Given the description of an element on the screen output the (x, y) to click on. 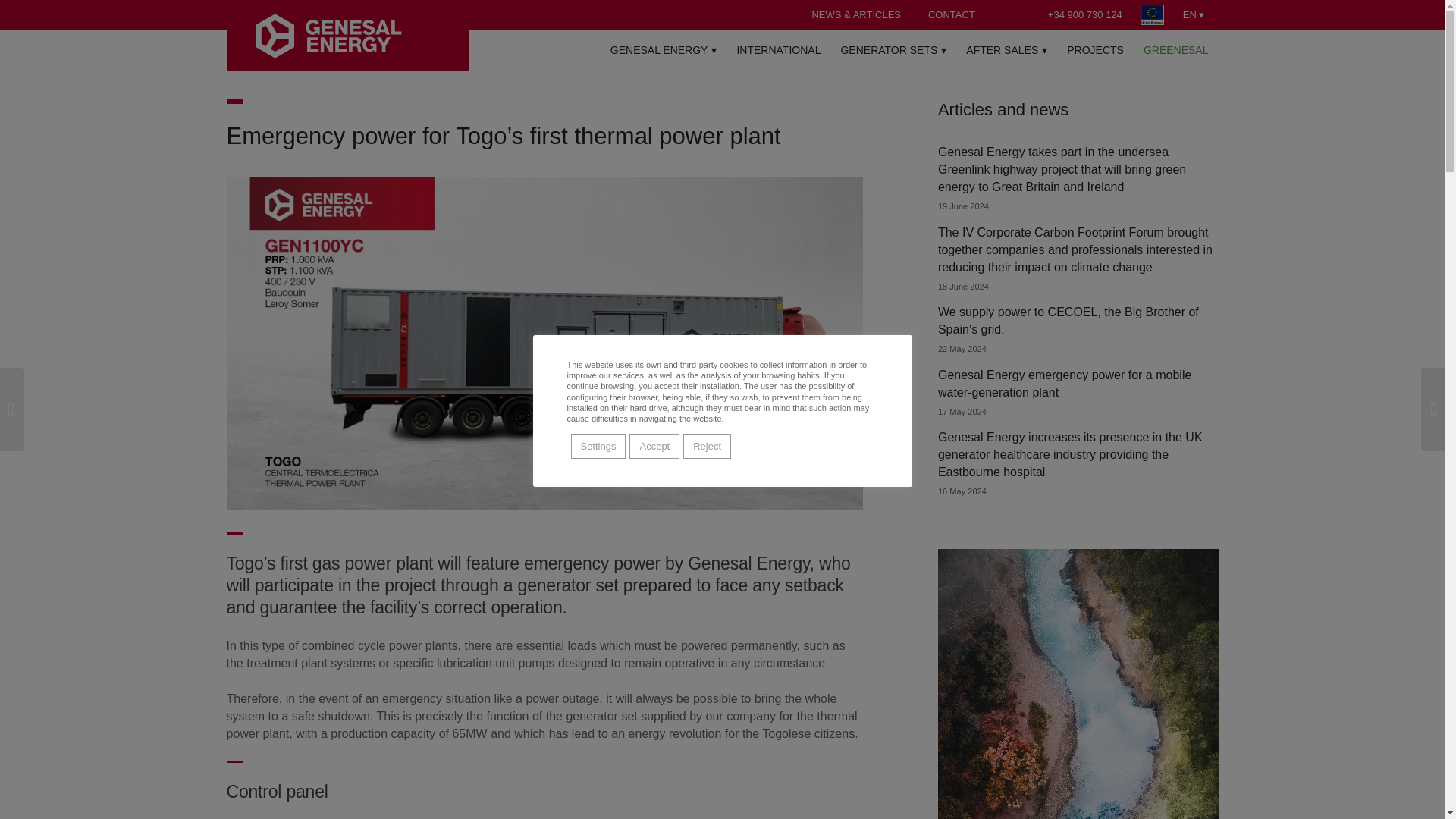
UE (1152, 14)
CONTACT (951, 14)
GENESAL ENERGY (662, 50)
INTERNATIONAL (777, 50)
GENERATOR SETS (892, 50)
